Given the description of an element on the screen output the (x, y) to click on. 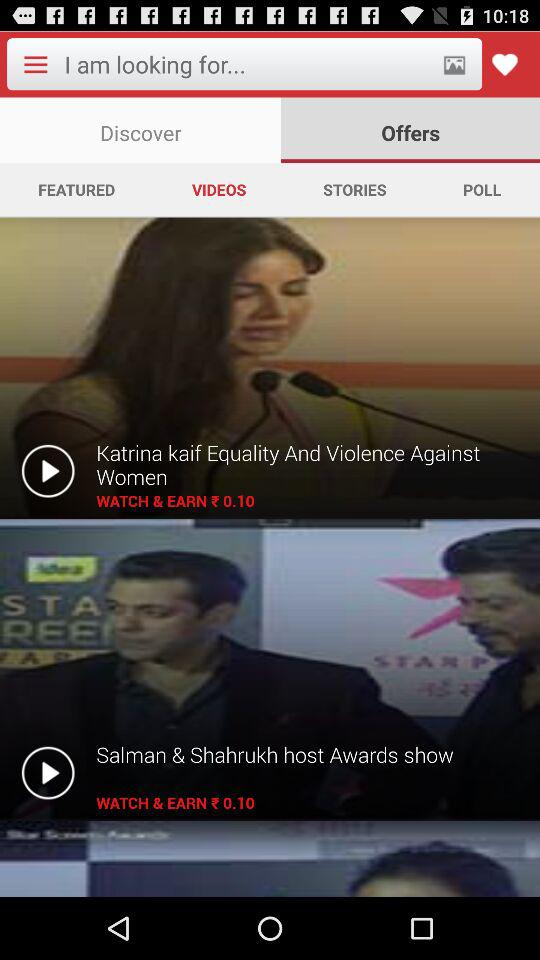
open the app next to the stories app (218, 189)
